Given the description of an element on the screen output the (x, y) to click on. 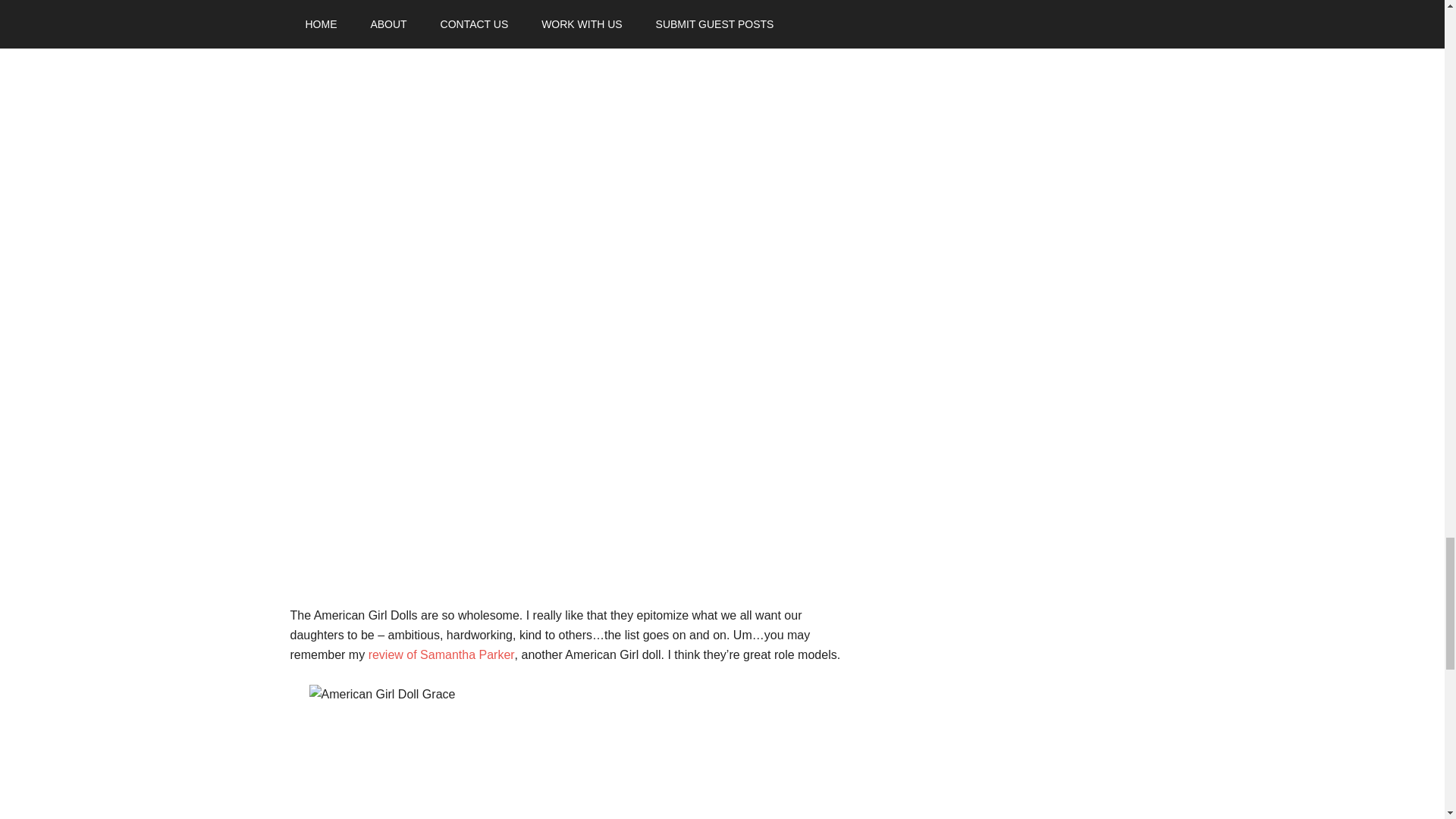
American Girl Doll Grace (574, 751)
review of Samantha Parker (441, 654)
